Given the description of an element on the screen output the (x, y) to click on. 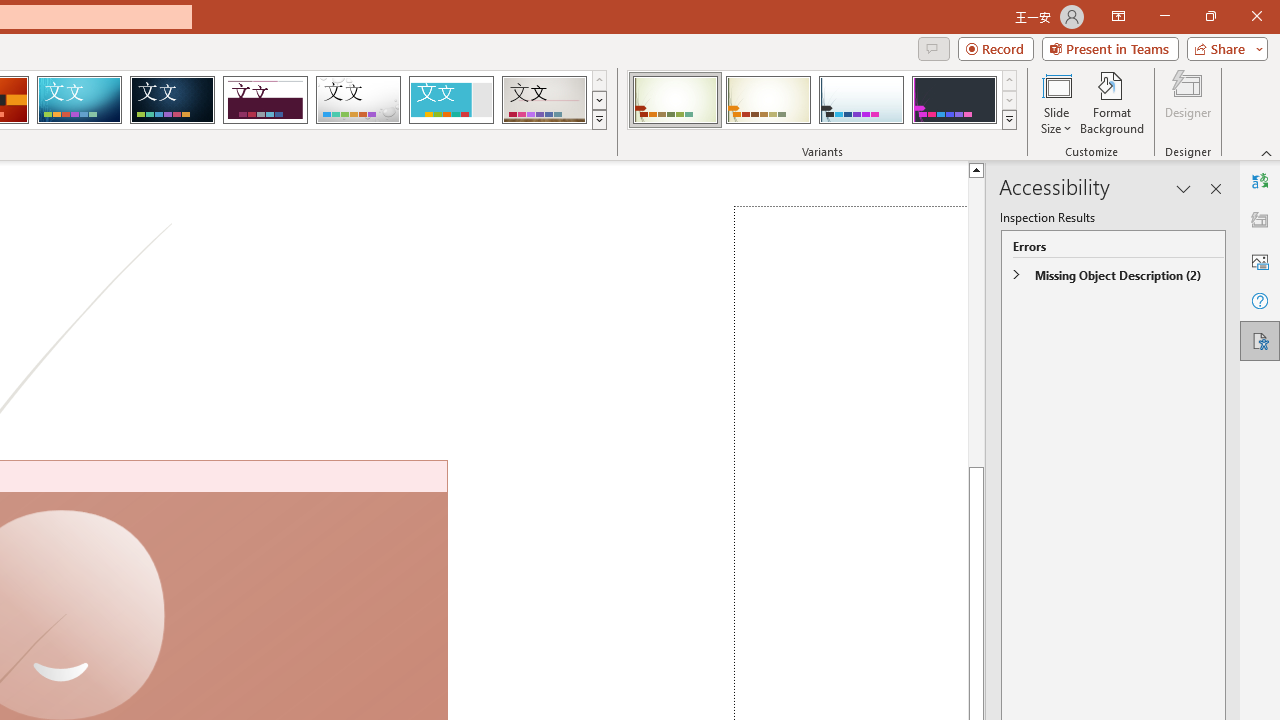
Format Background (1111, 102)
Gallery (544, 100)
Alt Text (1260, 260)
Droplet (358, 100)
